Given the description of an element on the screen output the (x, y) to click on. 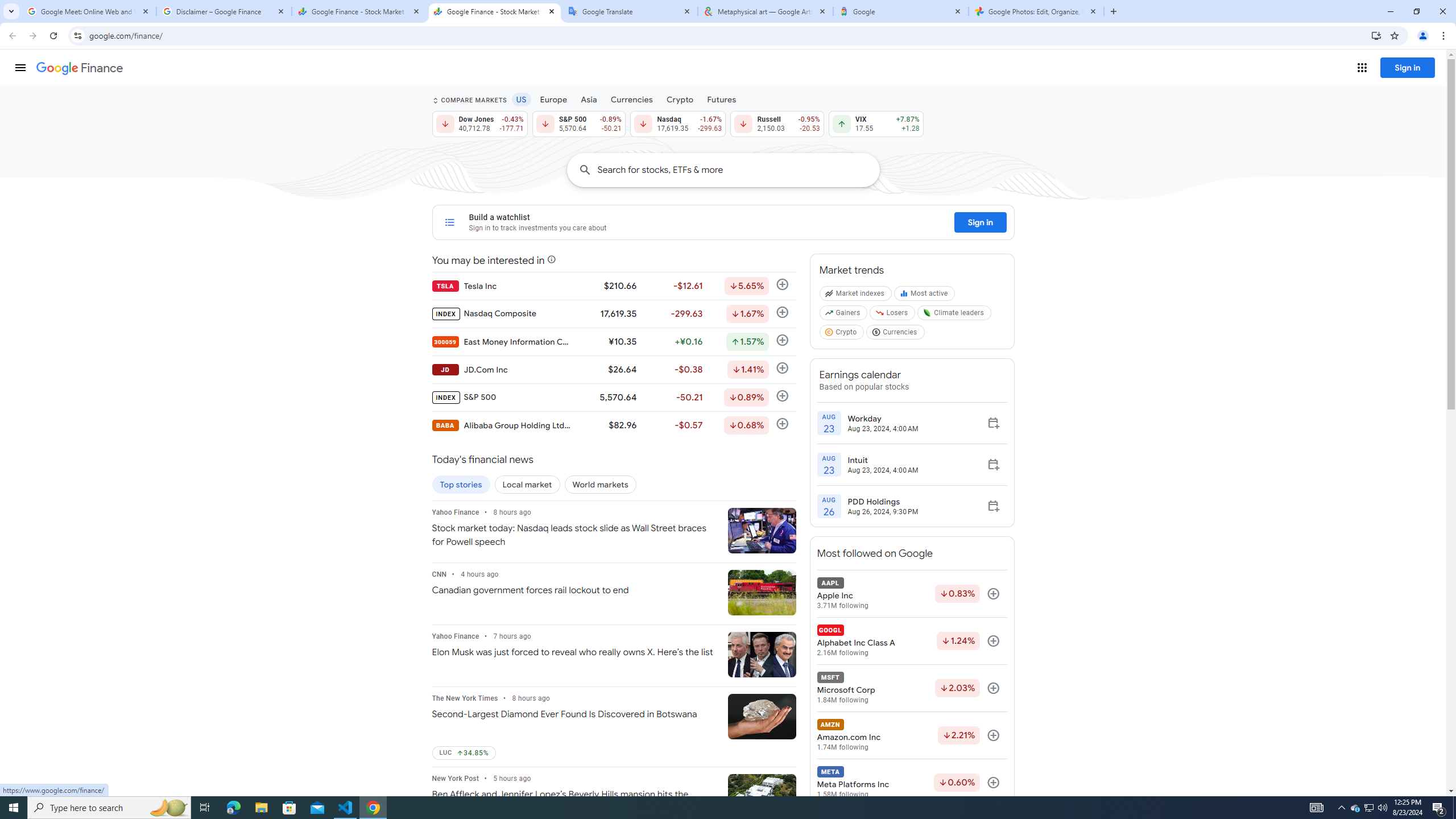
World markets (600, 484)
Top stories (460, 484)
Most active (925, 295)
AAPL Apple Inc 3.71M following Down by 0.83% Follow (911, 593)
TSLA Tesla Inc $210.66 -$12.61 Down by 5.65% Follow (613, 285)
Install Google Finance (1376, 35)
Google (901, 11)
Market indexes (855, 295)
Asia (588, 99)
S&P 500 5,570.64 Down by 0.89% -50.21 (578, 123)
GLeaf logo (927, 312)
